Given the description of an element on the screen output the (x, y) to click on. 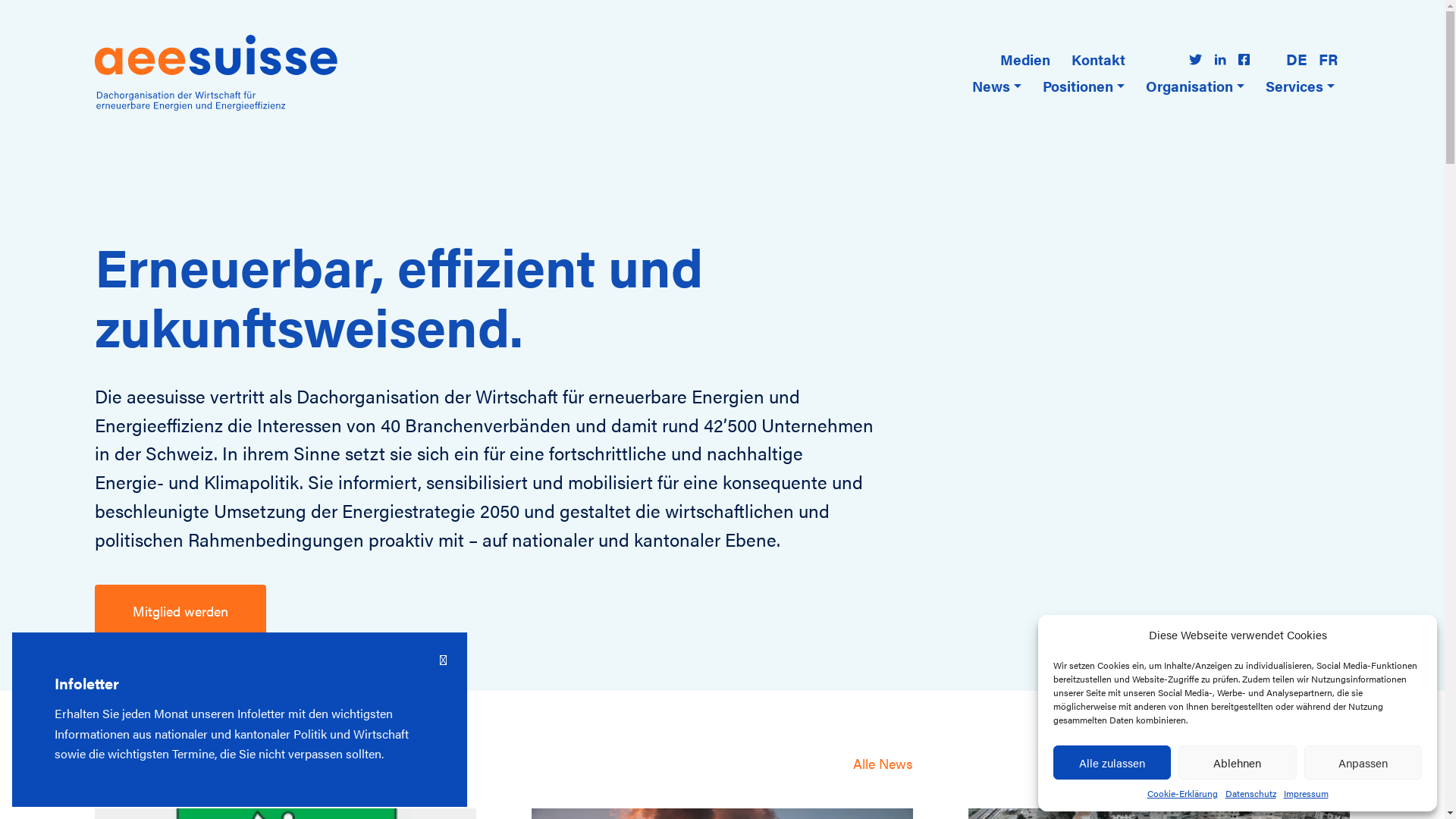
Anpassen Element type: text (1362, 762)
Impressum Element type: text (1305, 793)
Mitglied werden Element type: text (180, 610)
logo-twitter Element type: text (1195, 59)
Alle News Element type: text (883, 762)
FR Element type: text (1327, 58)
Alle zulassen Element type: text (1111, 762)
Datenschutz Element type: text (1250, 793)
Organisation Element type: text (1194, 85)
Medien Element type: text (1025, 59)
Positionen Element type: text (1083, 85)
News Element type: text (996, 85)
Ablehnen Element type: text (1236, 762)
Kontakt Element type: text (1098, 59)
Services Element type: text (1299, 85)
DE Element type: text (1296, 58)
